Given the description of an element on the screen output the (x, y) to click on. 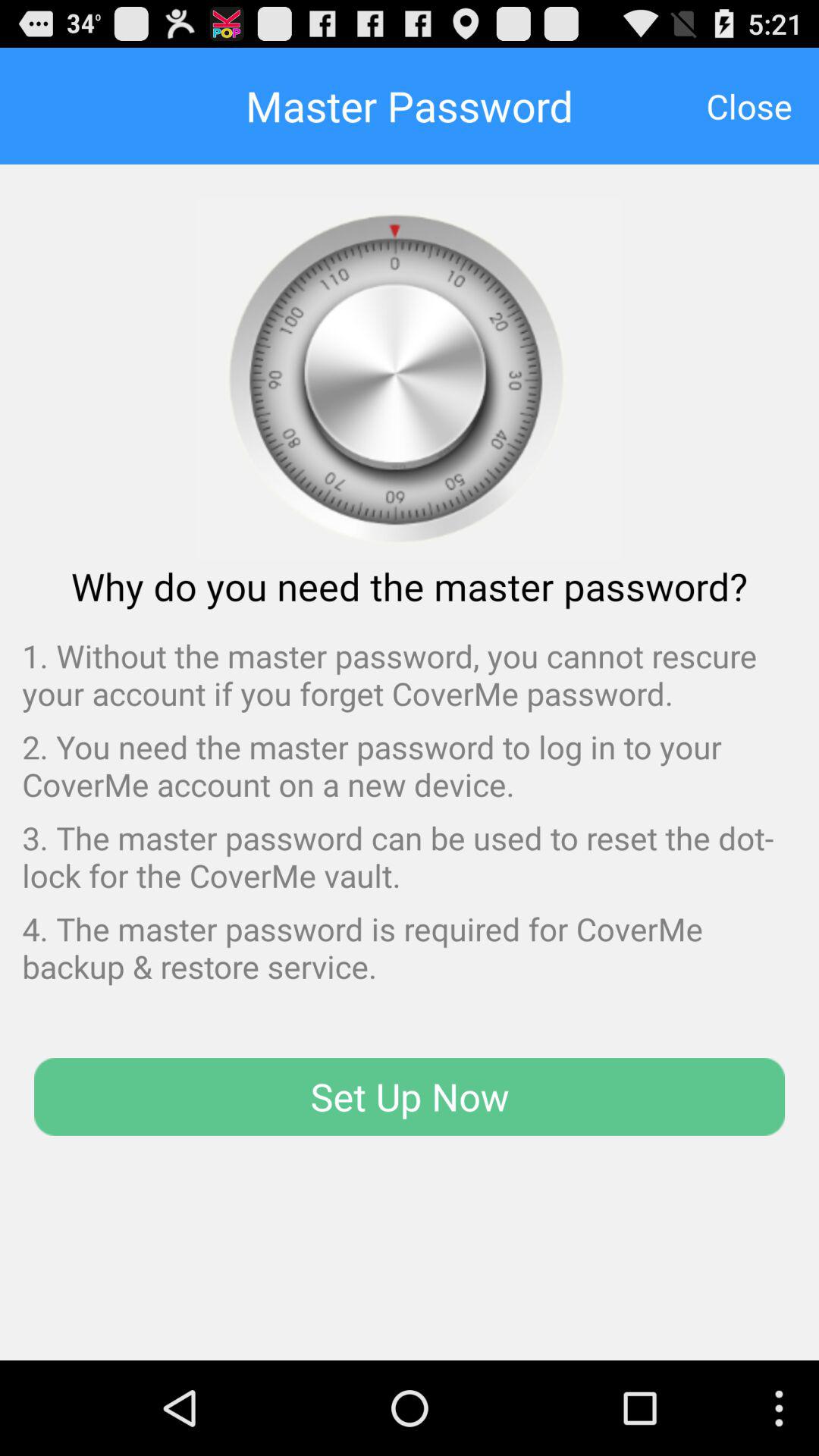
turn on set up now icon (409, 1096)
